Given the description of an element on the screen output the (x, y) to click on. 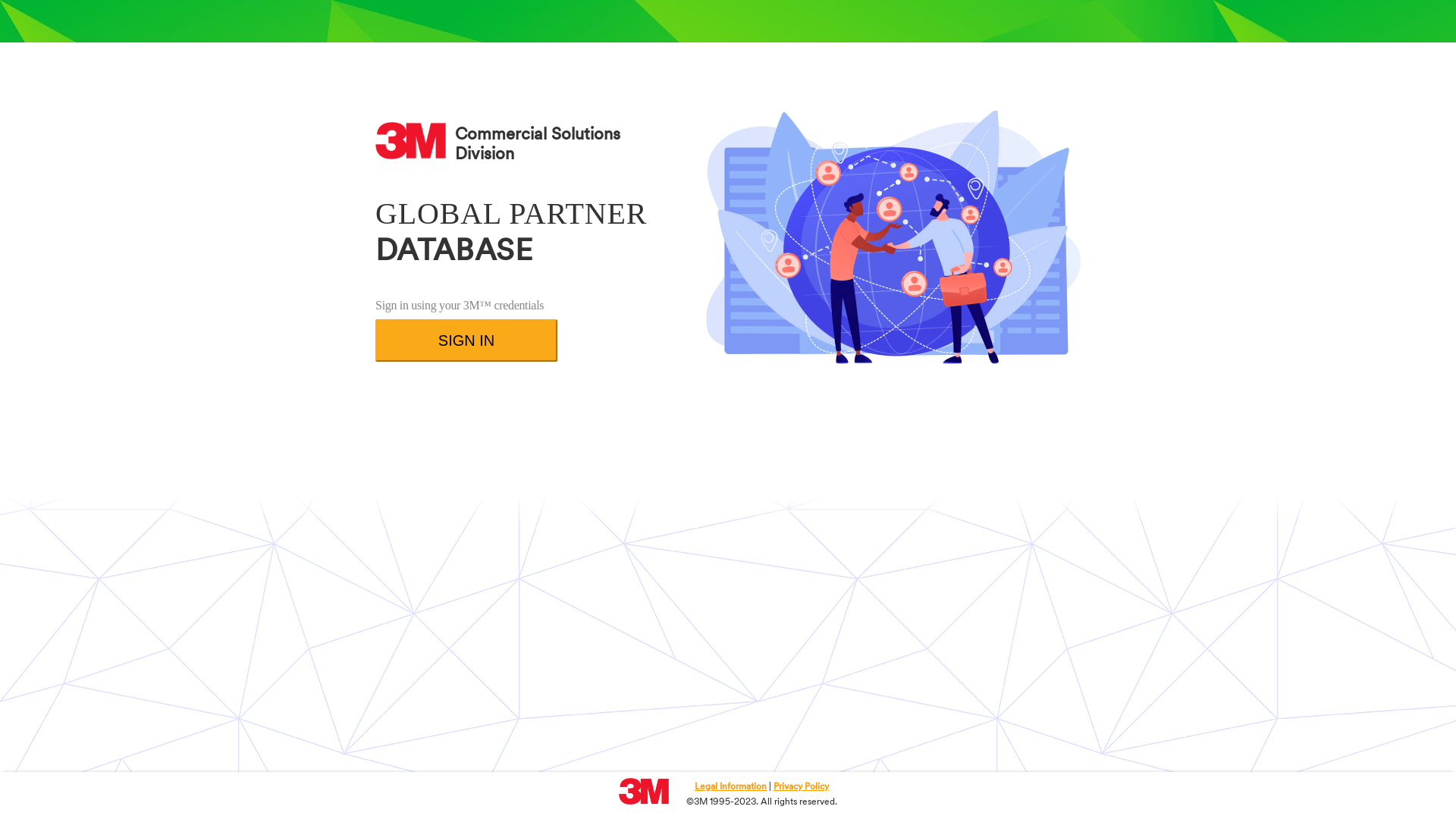
SIGN IN Element type: text (466, 340)
Privacy Policy Element type: text (800, 786)
Legal Information Element type: text (730, 786)
